Given the description of an element on the screen output the (x, y) to click on. 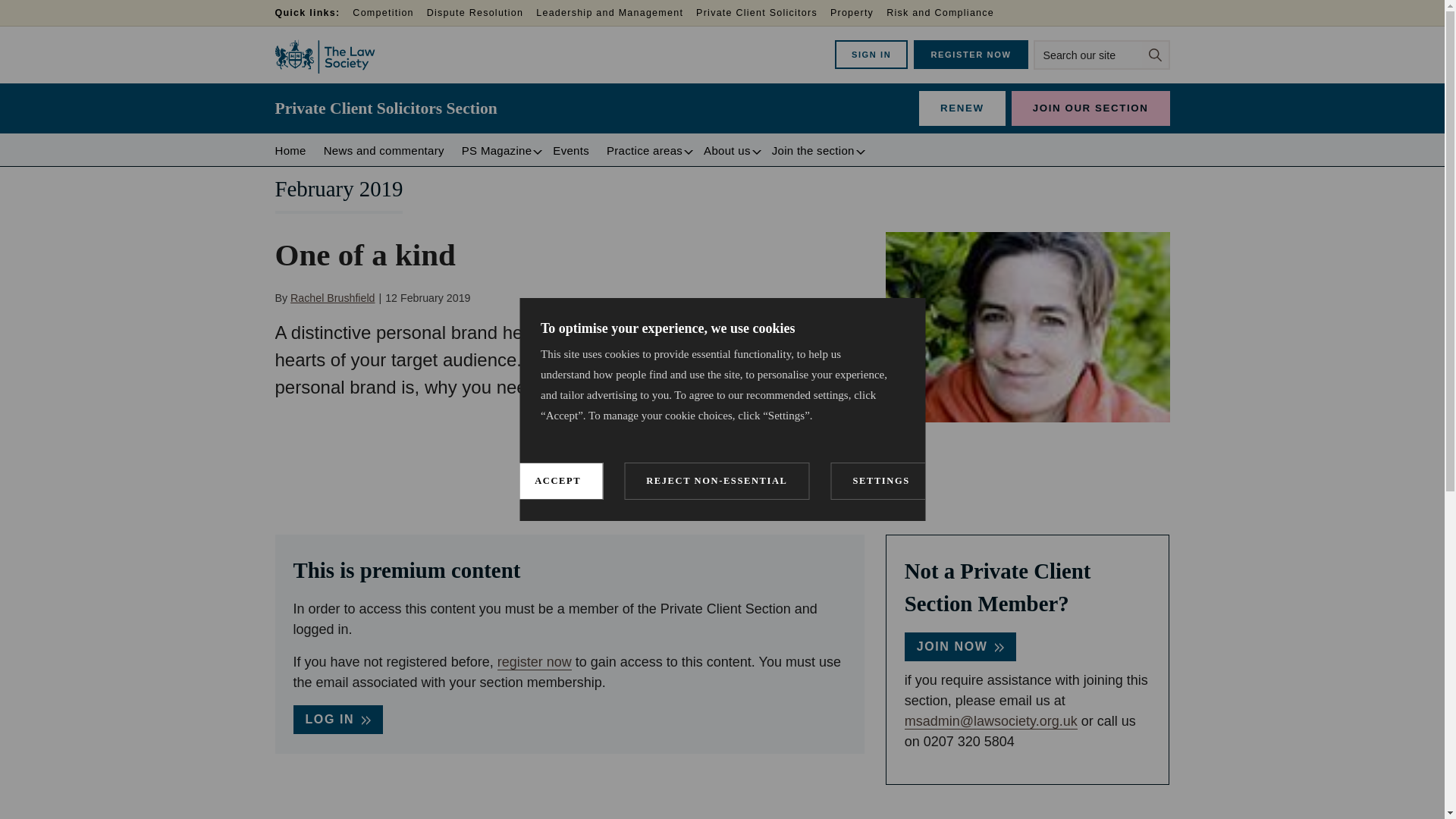
Private Client Solicitors (762, 13)
SIGN IN (871, 54)
Dispute Resolution (480, 13)
REJECT NON-ESSENTIAL (716, 791)
Private Client Solicitors (762, 13)
Property (857, 13)
Private Client Solicitors Section (385, 108)
Leadership and Management (615, 13)
ACCEPT (557, 800)
Risk and Compliance (946, 13)
